Given the description of an element on the screen output the (x, y) to click on. 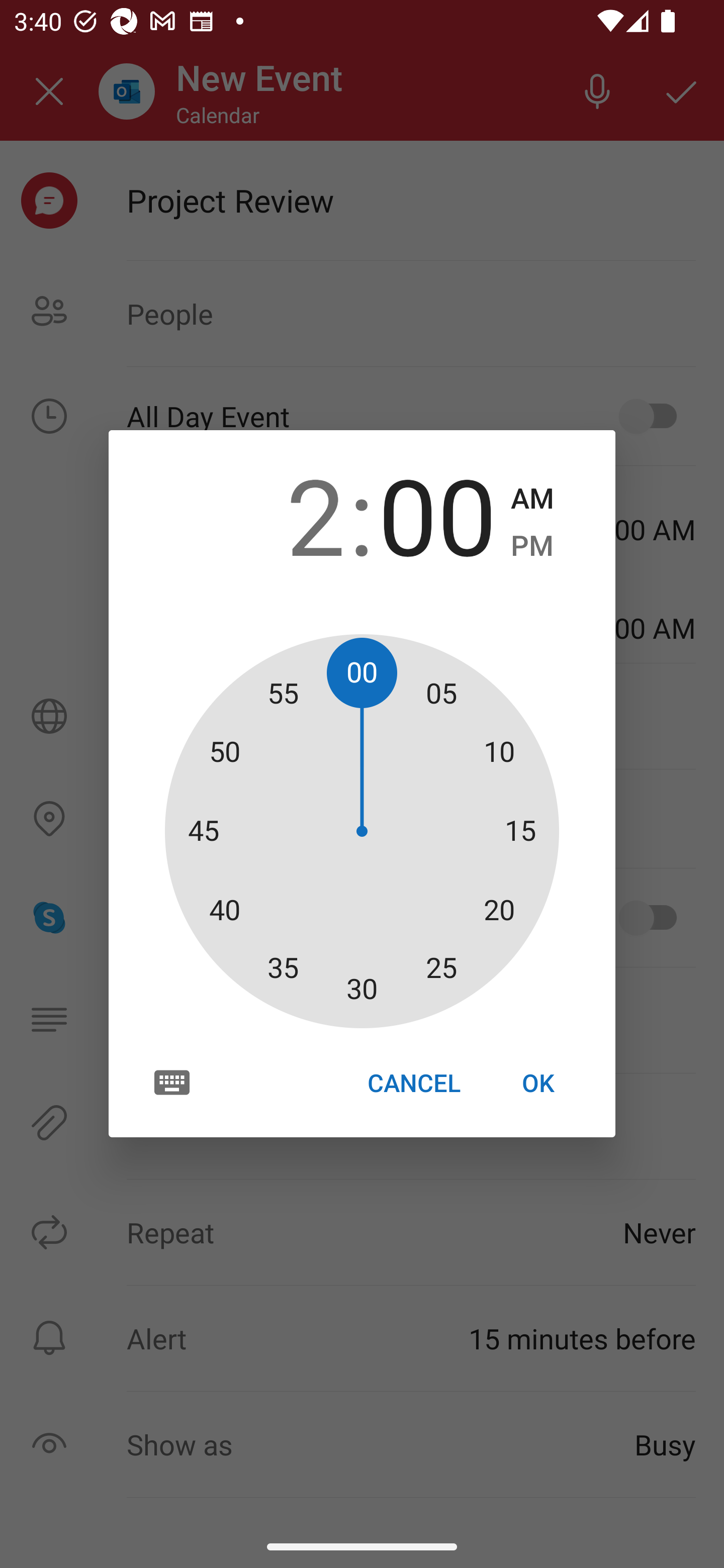
2 (285, 513)
00 (436, 513)
AM (532, 498)
PM (532, 546)
CANCEL (413, 1082)
OK (537, 1082)
Switch to text input mode for the time input. (171, 1081)
